Given the description of an element on the screen output the (x, y) to click on. 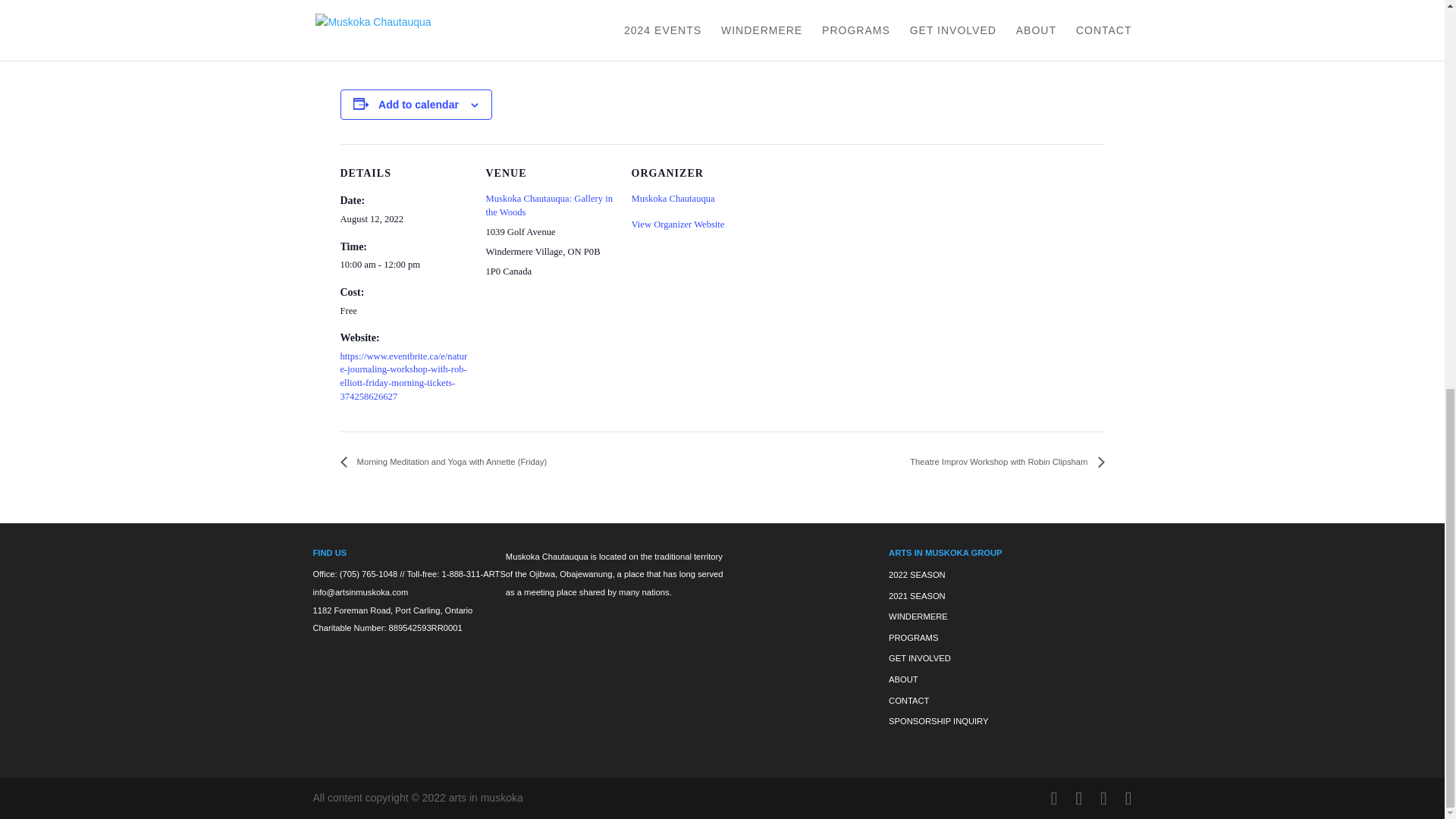
2022-08-12 (403, 264)
2022 SEASON (916, 574)
Add to calendar (418, 104)
SPONSORSHIP INQUIRY (938, 720)
Muskoka Chautauqua: Gallery in the Woods (548, 205)
Muskoka Chautauqua (672, 198)
Theatre Improv Workshop with Robin Clipsham (1002, 461)
2021 SEASON (916, 595)
ABOUT (903, 678)
GET INVOLVED (919, 657)
